Given the description of an element on the screen output the (x, y) to click on. 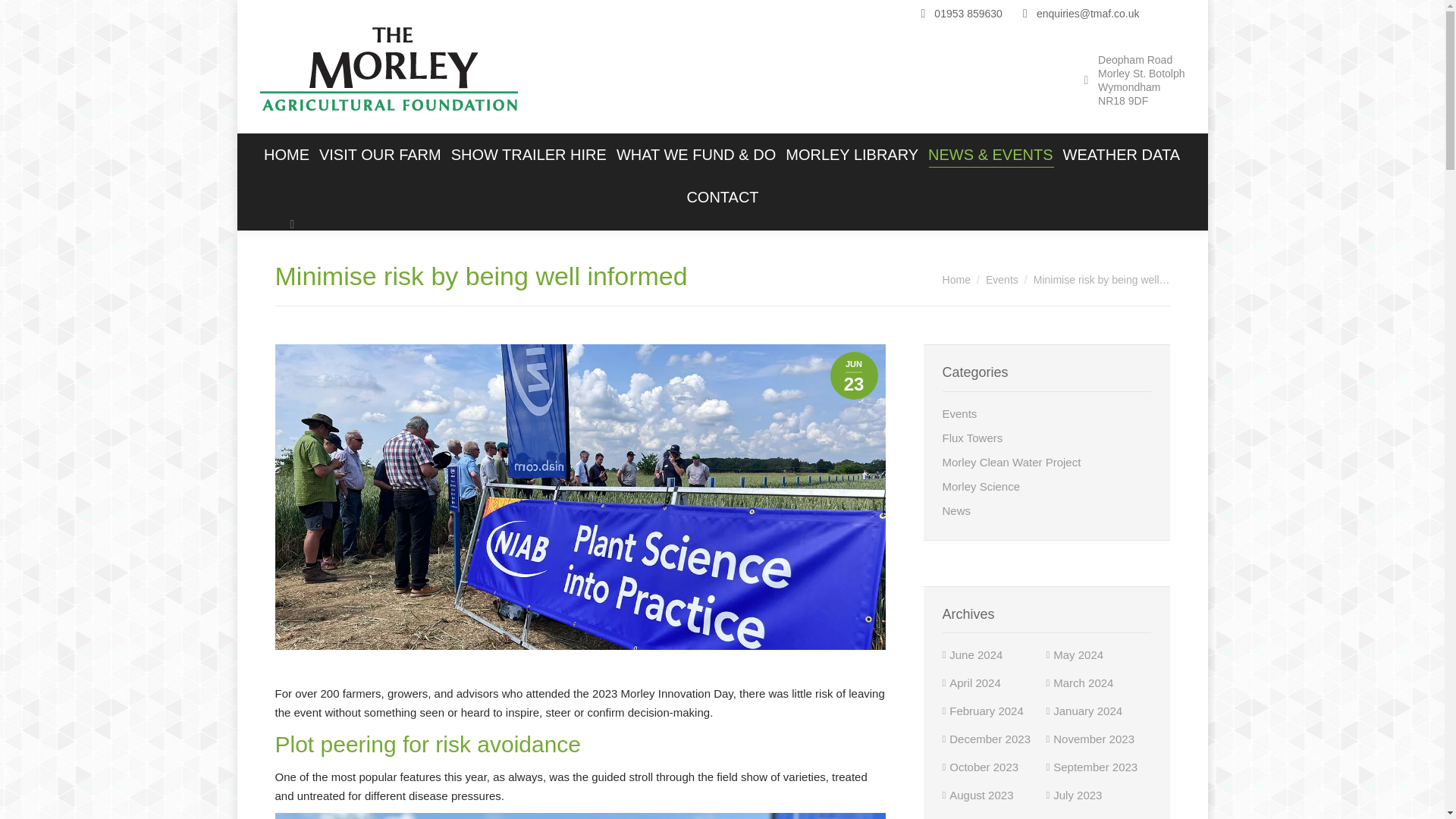
HOME (286, 154)
SHOW TRAILER HIRE (528, 154)
VISIT OUR FARM (379, 154)
Go! (24, 16)
MORLEY LIBRARY (852, 154)
Events (1001, 279)
Home (956, 279)
WEATHER DATA (1120, 154)
CONTACT (722, 197)
10:21 am (853, 375)
